Given the description of an element on the screen output the (x, y) to click on. 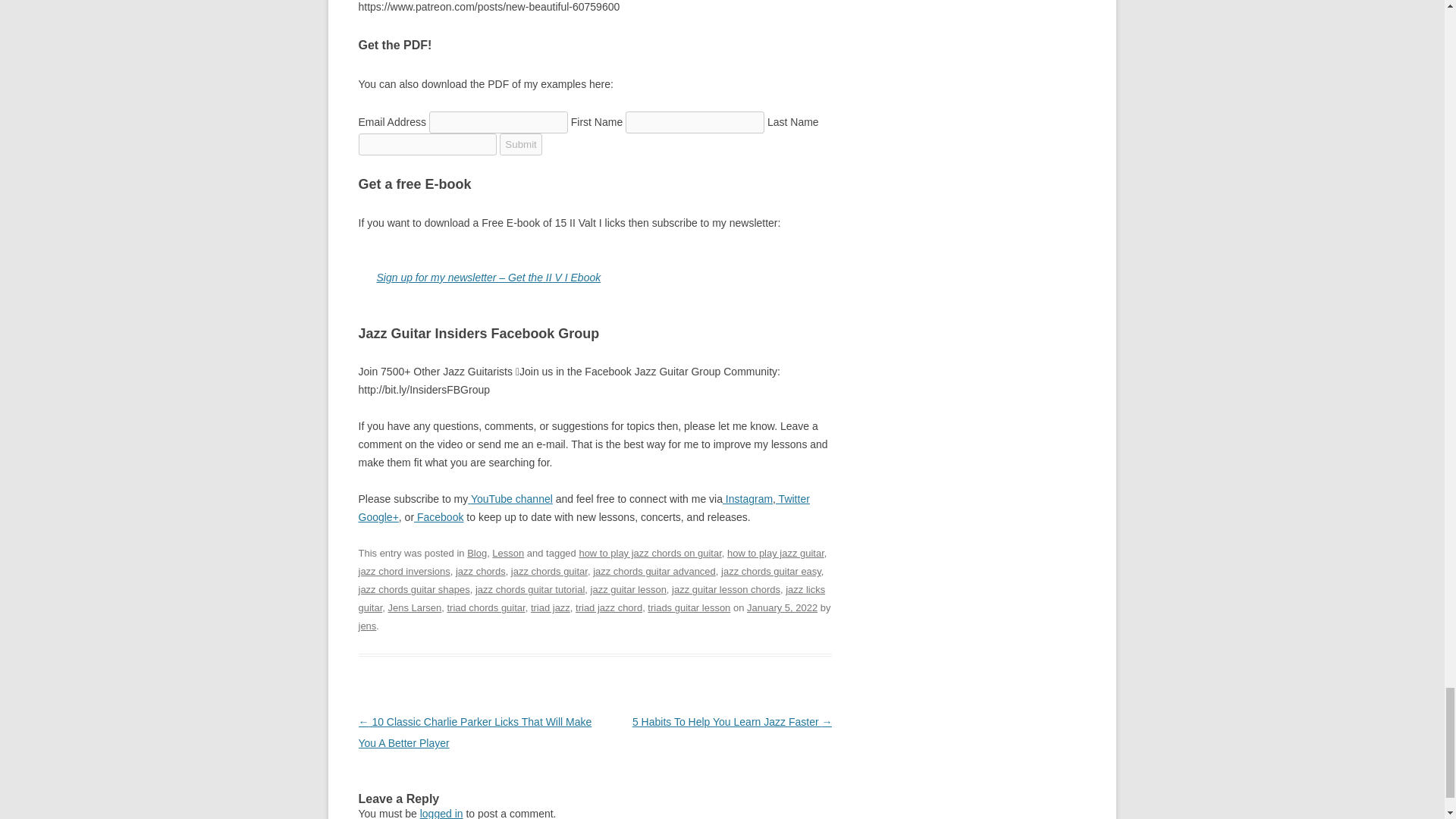
View all posts by jens (366, 625)
Submit (520, 144)
Twitter (792, 499)
Facebook (438, 517)
12:40 (781, 607)
Instagram (747, 499)
YouTube channel (510, 499)
Blog (476, 552)
